Given the description of an element on the screen output the (x, y) to click on. 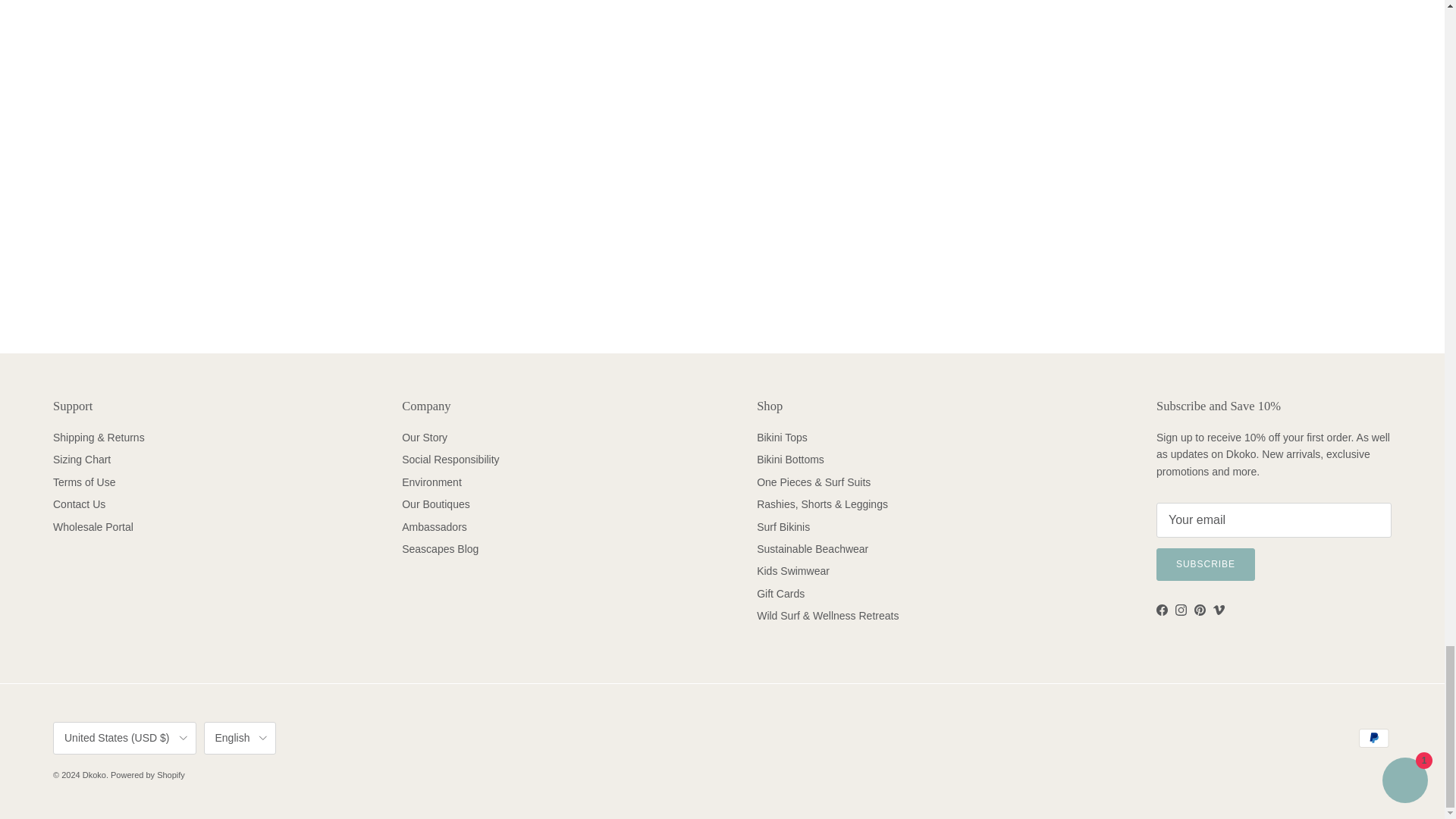
PayPal (1373, 737)
